Given the description of an element on the screen output the (x, y) to click on. 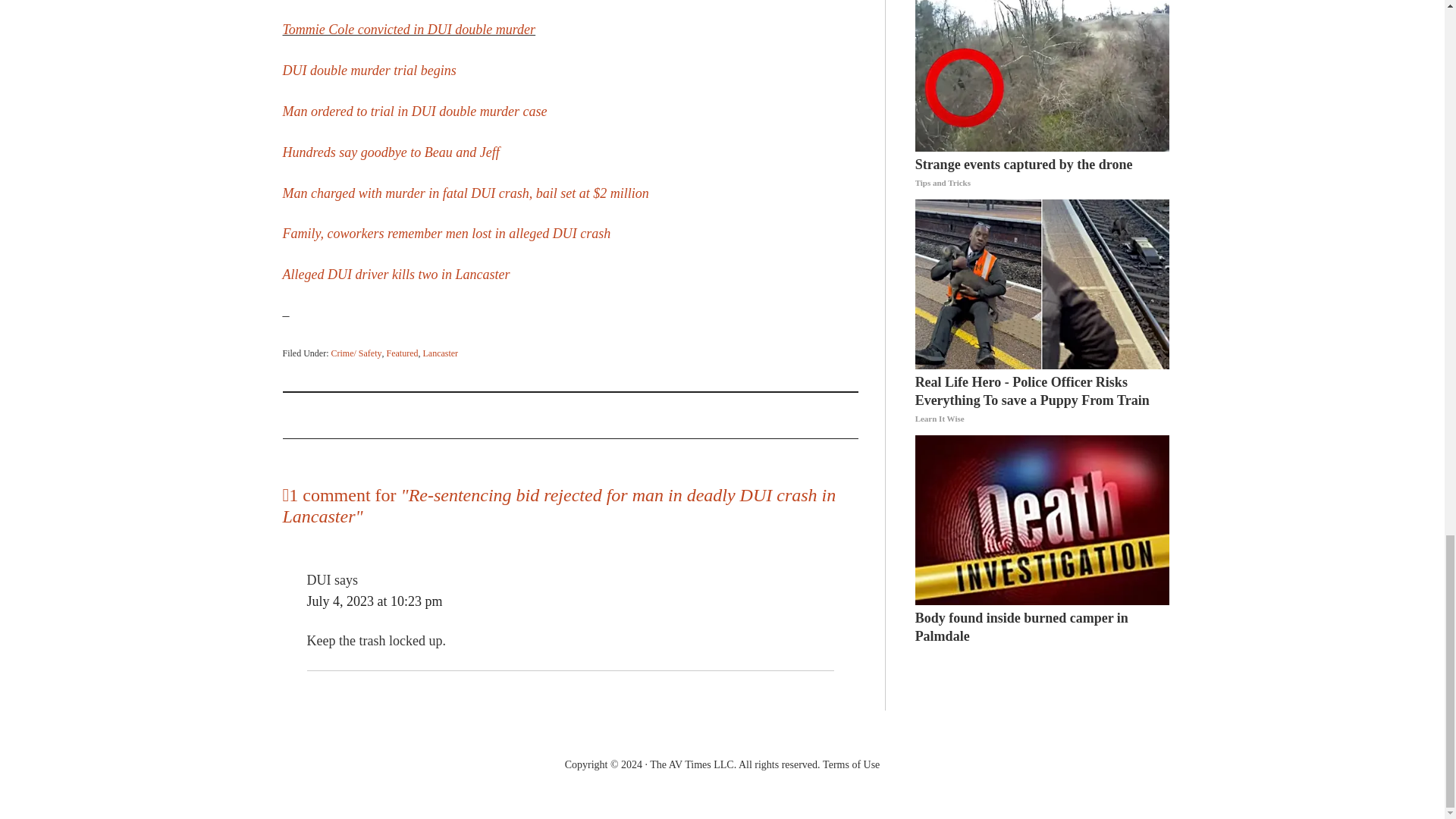
Hundreds say goodbye to Beau and Jeff (390, 151)
Body found inside burned camper in Palmdale (1042, 519)
Strange events captured by the drone (1042, 173)
Man ordered to trial in DUI double murder case (414, 111)
Family, coworkers remember men lost in alleged DUI crash (446, 233)
DUI double murder trial begins (368, 70)
Tommie Cole convicted in DUI double murder (408, 29)
Alleged DUI driver kills two in Lancaster (395, 273)
Featured (401, 353)
Advertisement (569, 29)
Strange events captured by the drone (1042, 75)
Body found inside burned camper in Palmdale (1042, 627)
